Given the description of an element on the screen output the (x, y) to click on. 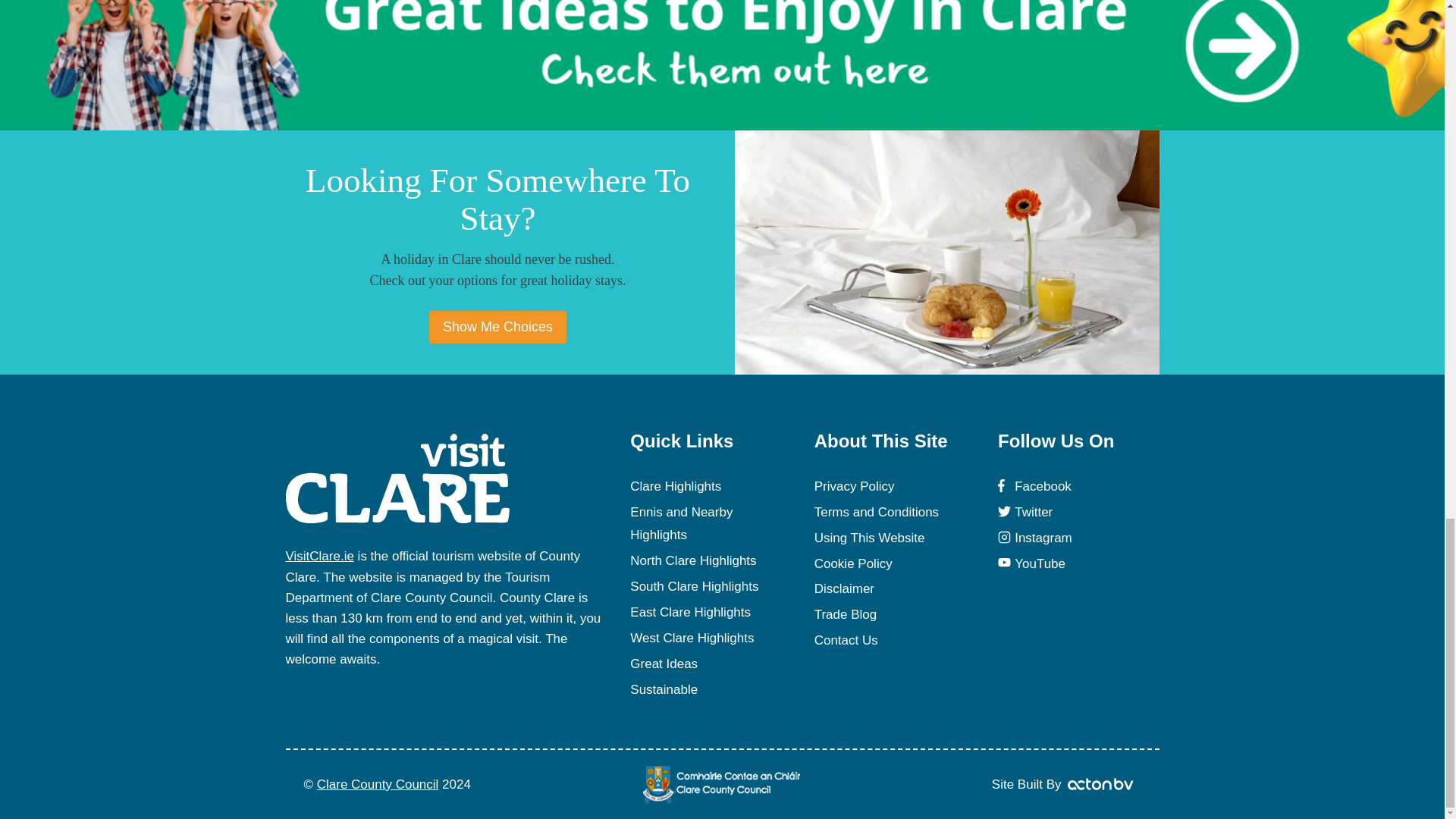
Site Built By ActonBV, Ireland (1101, 783)
